Given the description of an element on the screen output the (x, y) to click on. 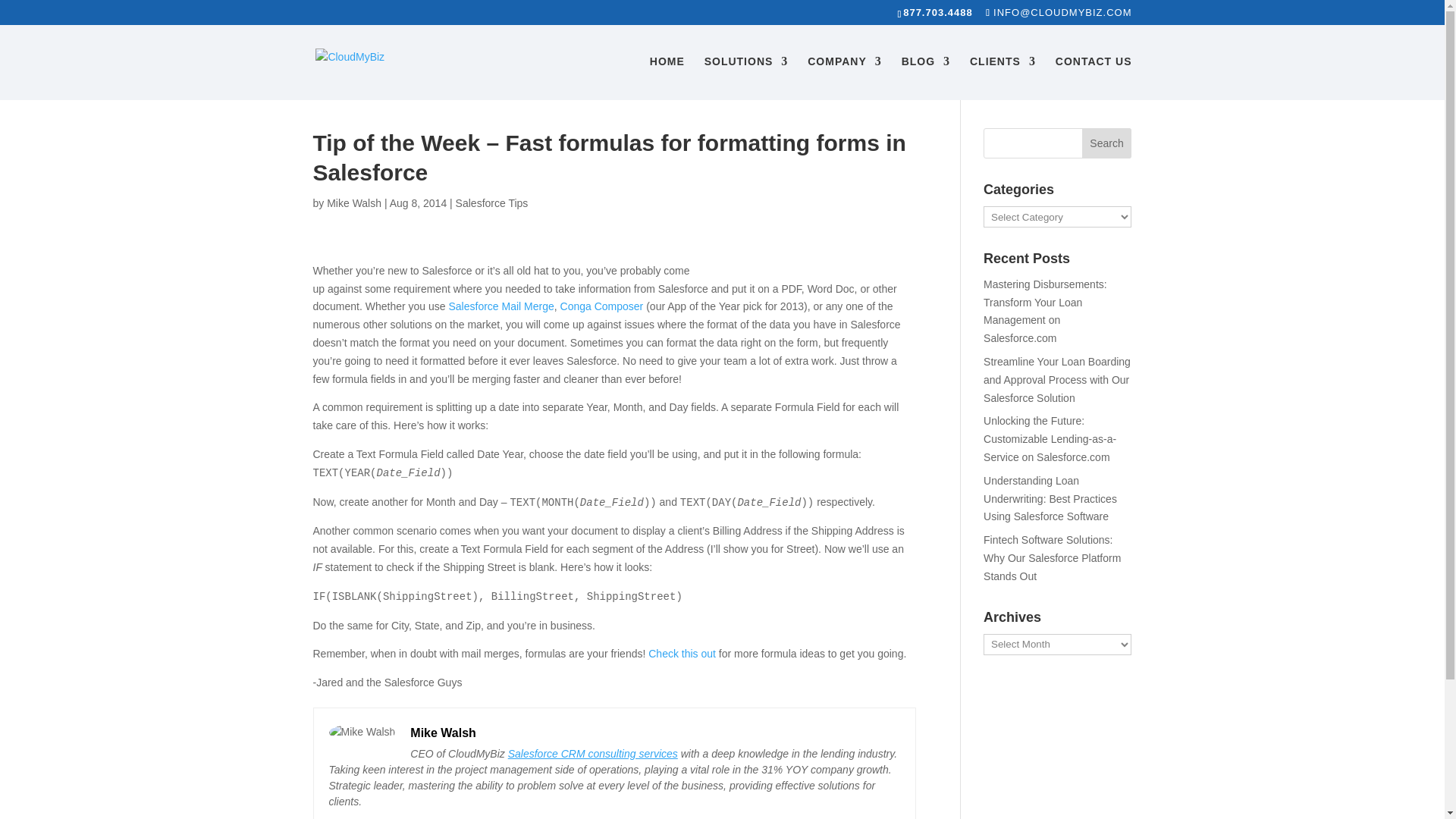
Check this out (681, 653)
Search (1106, 142)
Mike Walsh (353, 203)
Salesforce Mail Merge (501, 306)
Mike Walsh (443, 732)
Salesforce CRM consulting services (593, 753)
CONTACT US (1093, 77)
